Given the description of an element on the screen output the (x, y) to click on. 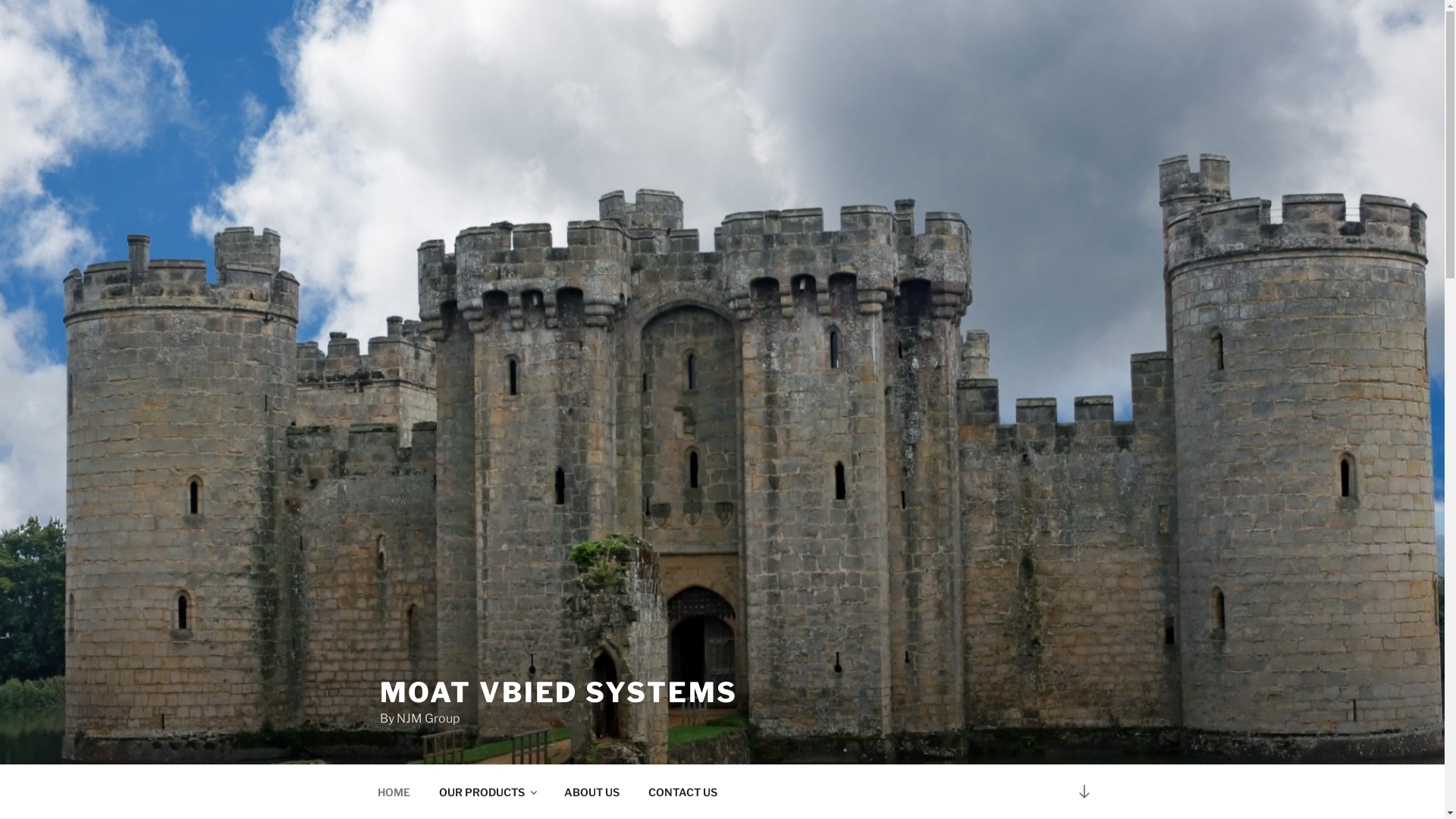
HOME Element type: text (393, 791)
Scroll down to content Element type: text (1083, 790)
CONTACT US Element type: text (683, 791)
ABOUT US Element type: text (591, 791)
OUR PRODUCTS Element type: text (487, 791)
MOAT VBIED SYSTEMS Element type: text (558, 692)
Skip to content Element type: text (0, 0)
